Given the description of an element on the screen output the (x, y) to click on. 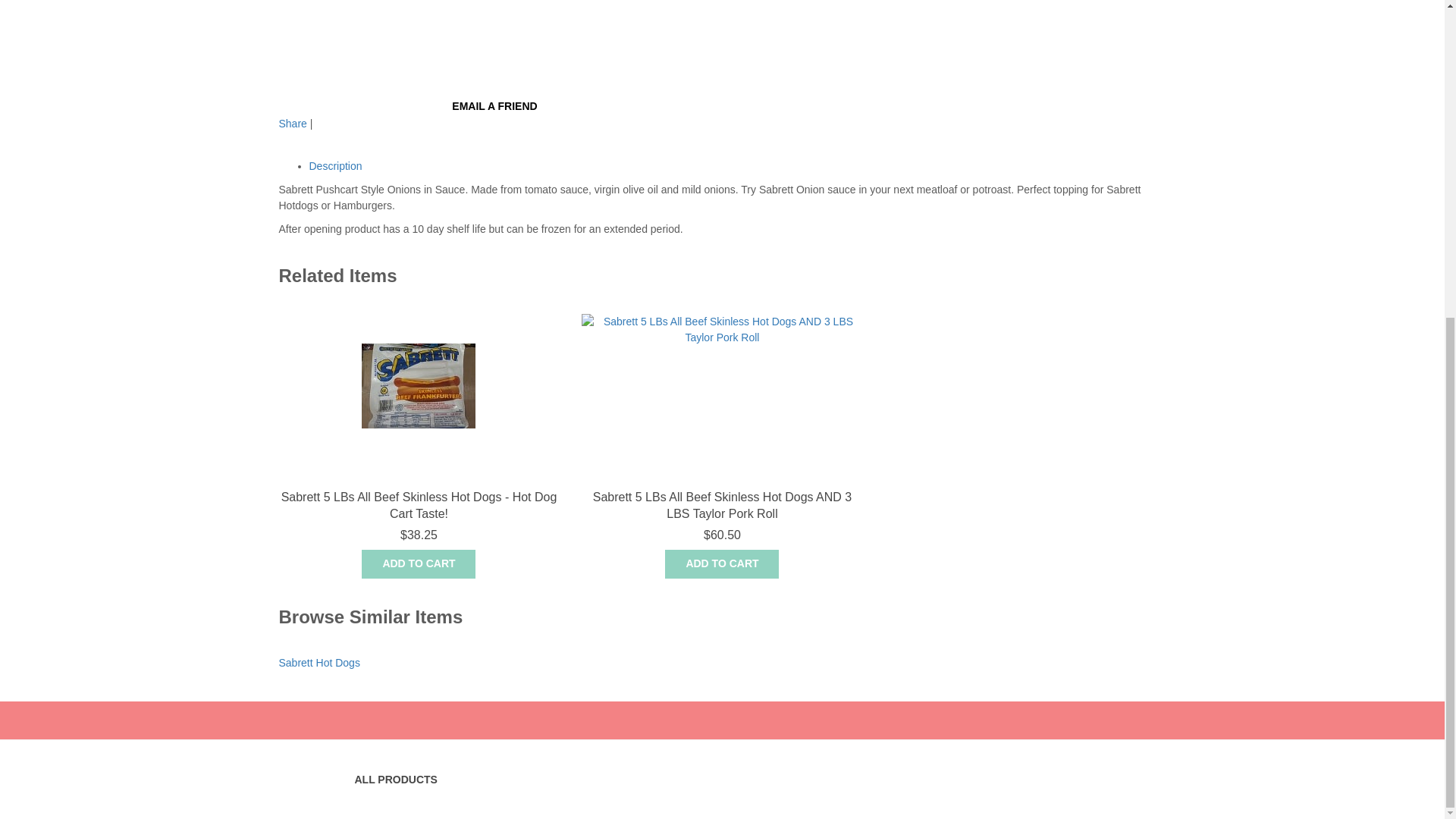
EMAIL A FRIEND (493, 106)
Share (293, 123)
